Given the description of an element on the screen output the (x, y) to click on. 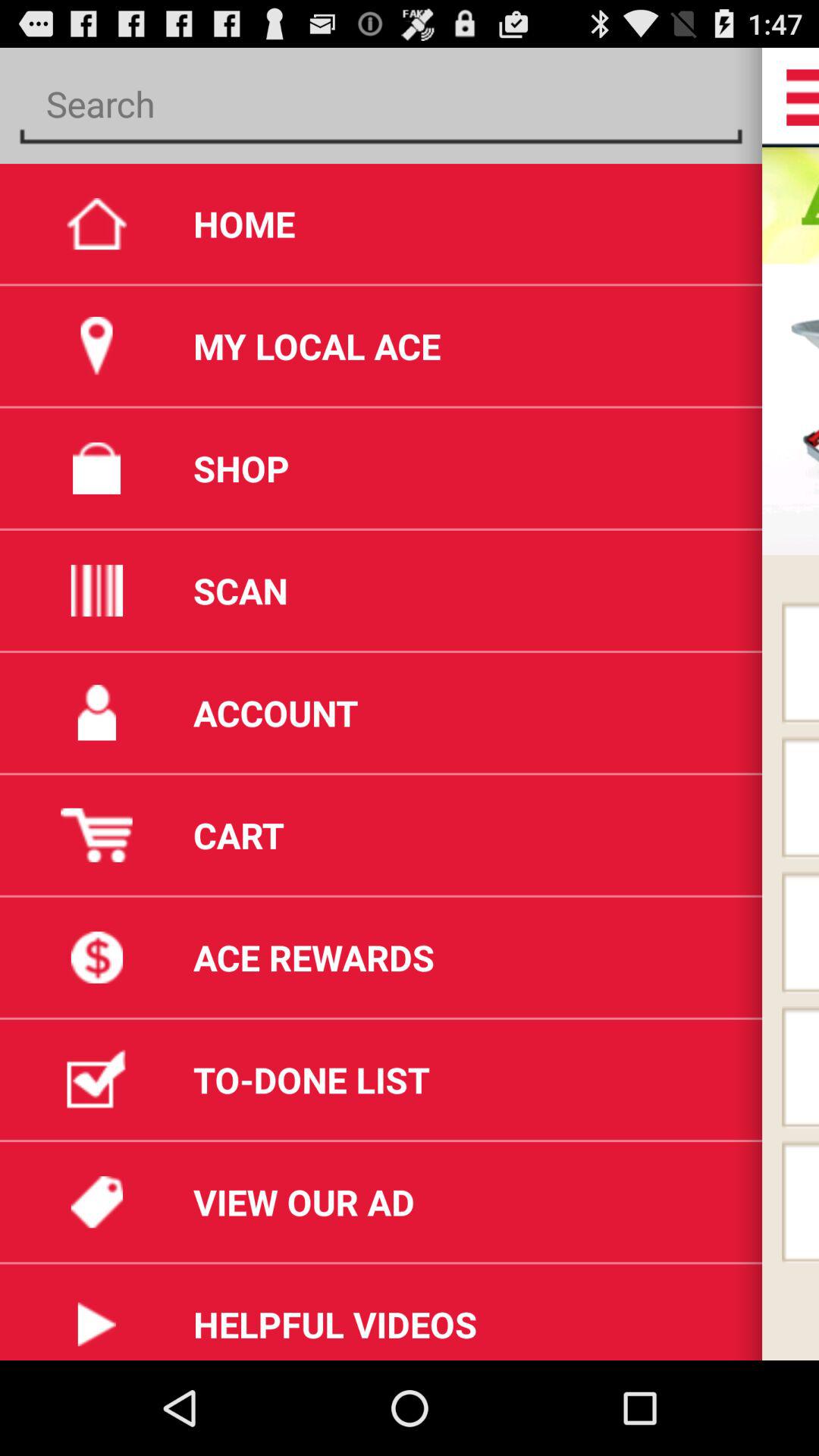
search ace (380, 105)
